Given the description of an element on the screen output the (x, y) to click on. 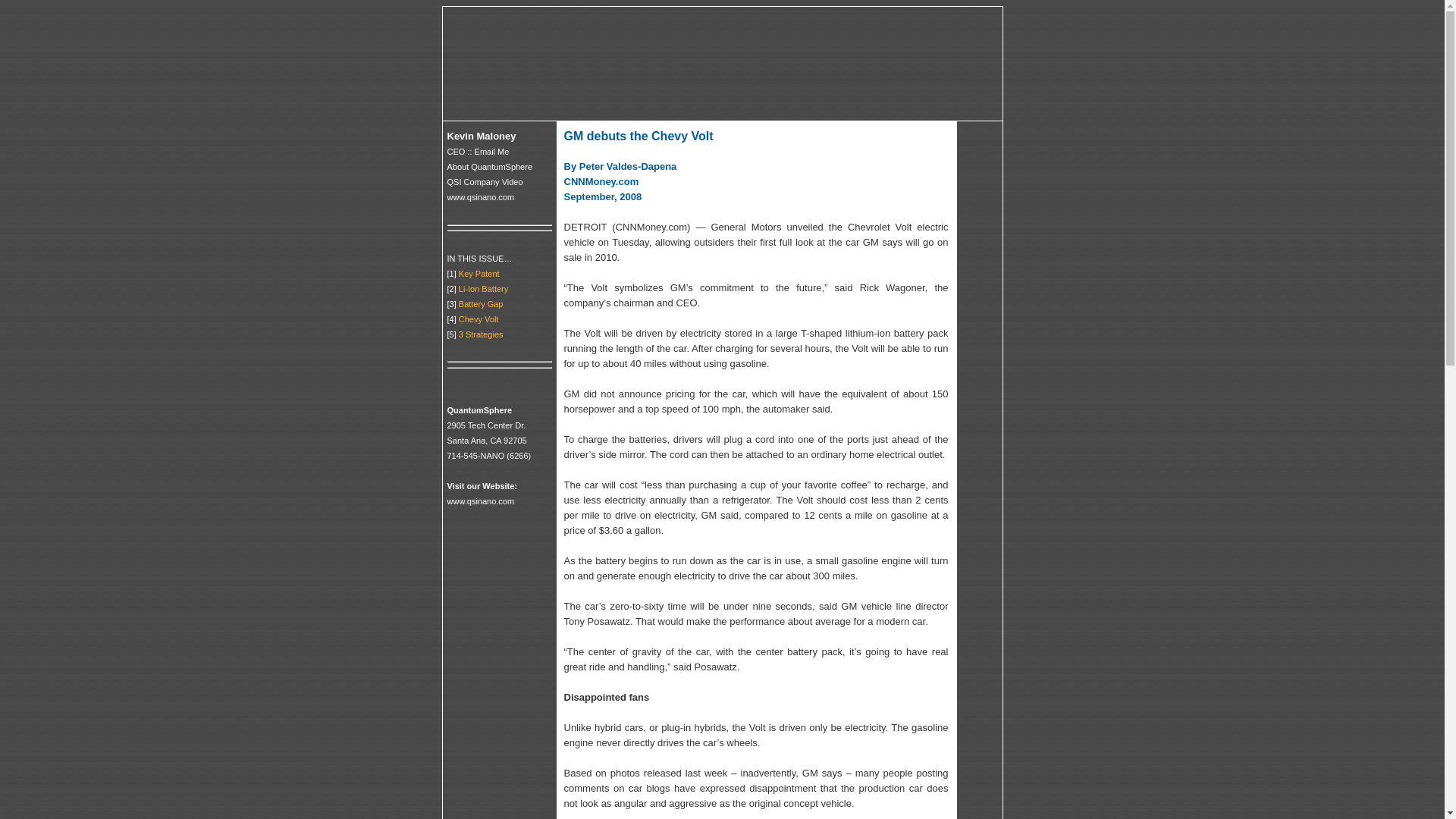
Email Me (491, 151)
Battery Gap (480, 302)
3 Strategies (480, 333)
Key Patent (478, 272)
QSI Company Video (484, 181)
Chevy Volt (478, 317)
Li-Ion Battery (483, 287)
www.qsinano.com (480, 501)
www.qsinano.com (480, 196)
About QuantumSphere (489, 166)
